Given the description of an element on the screen output the (x, y) to click on. 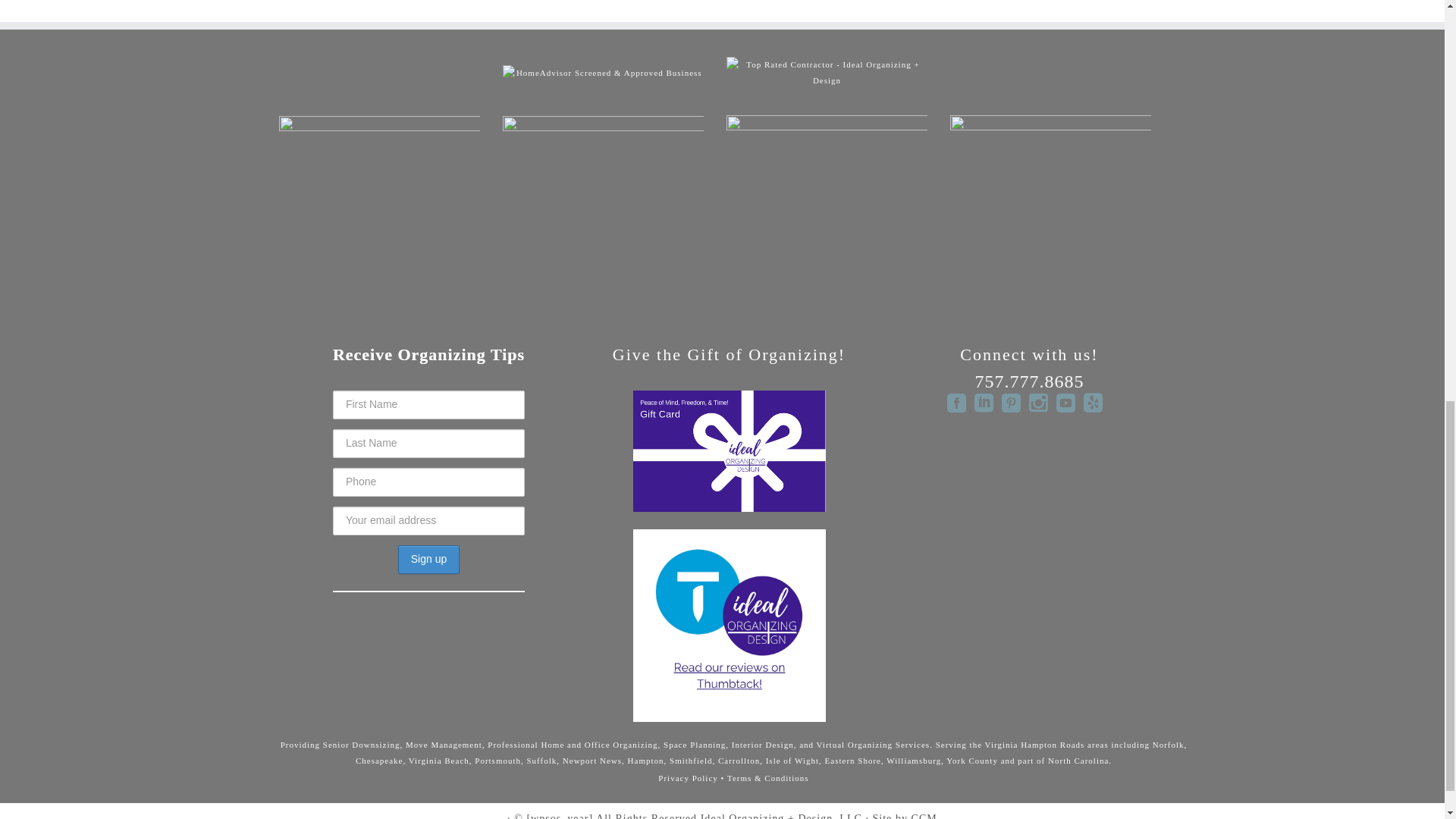
nasmm (602, 204)
fmo (1050, 203)
thumb (826, 203)
Sign up (428, 559)
Sign up (428, 559)
CCM (924, 814)
Privacy Policy (687, 777)
napo (379, 204)
